Given the description of an element on the screen output the (x, y) to click on. 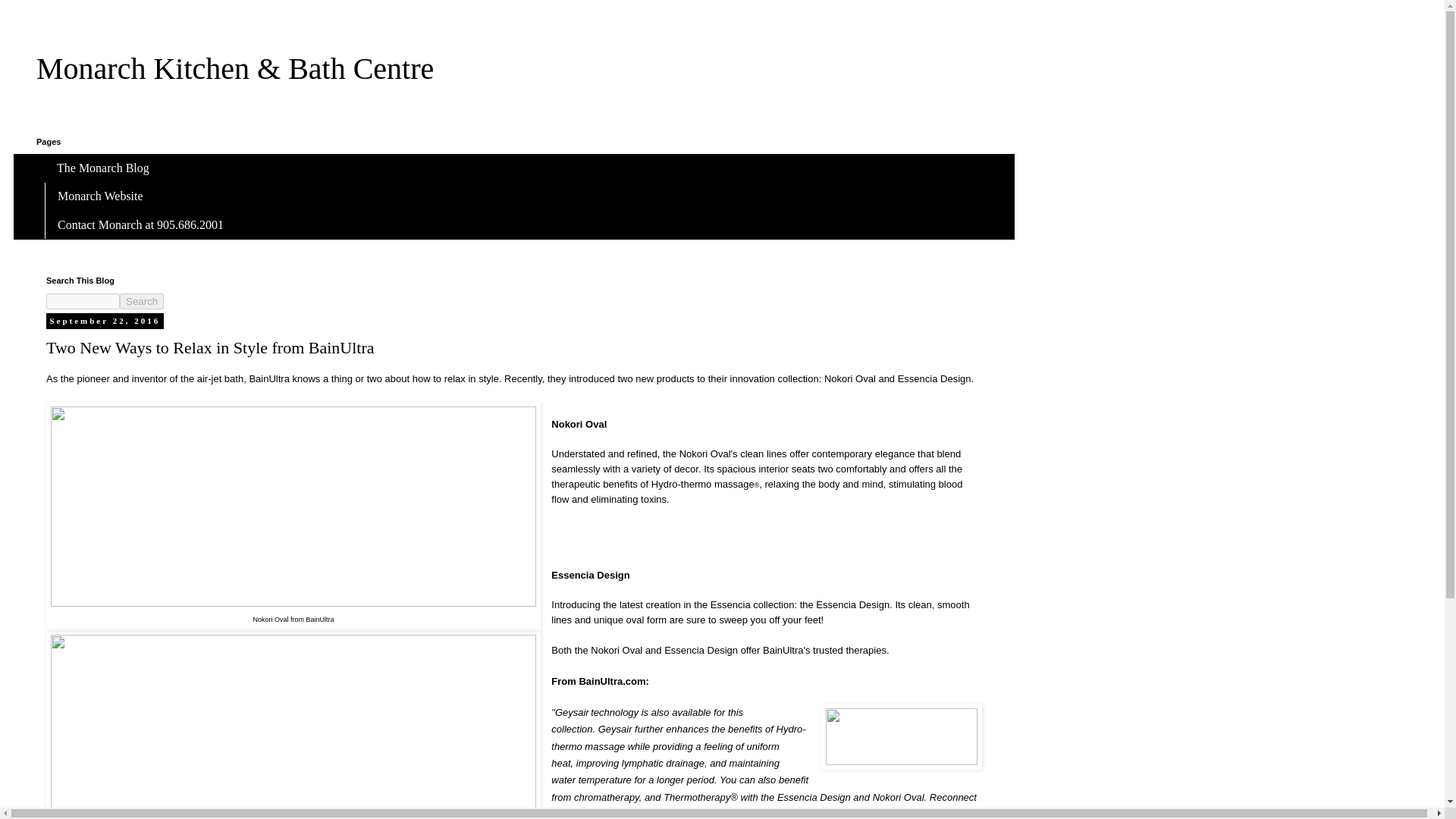
search (82, 301)
Monarch Website (100, 196)
Search (141, 301)
Nokori Oval (616, 650)
Search (141, 301)
Essencia Design (700, 650)
Search (141, 301)
Contact Monarch at 905.686.2001 (140, 224)
search (141, 301)
The Monarch Blog (103, 168)
